Given the description of an element on the screen output the (x, y) to click on. 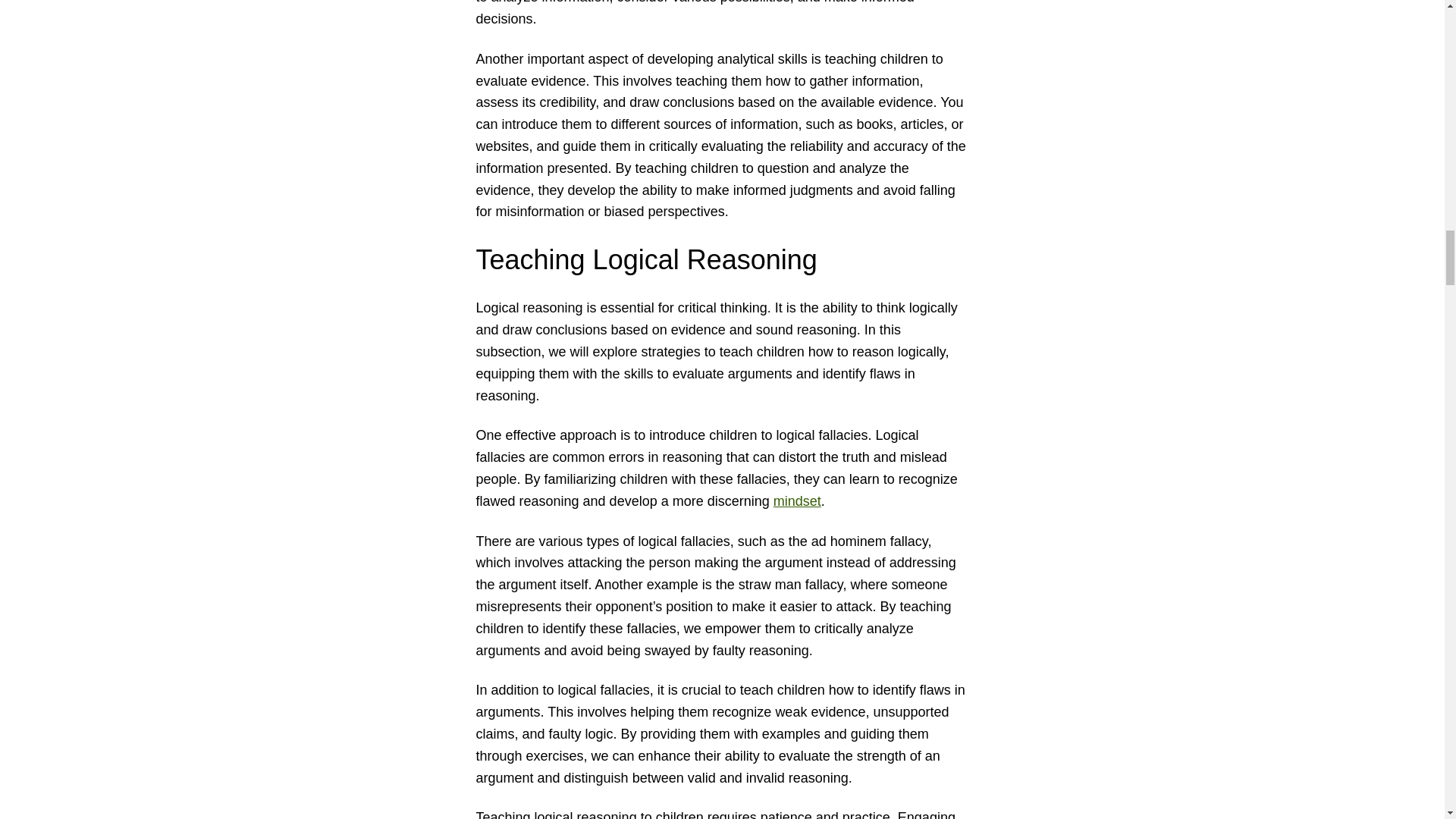
mindset (797, 500)
Posts tagged with Mindset (797, 500)
